Given the description of an element on the screen output the (x, y) to click on. 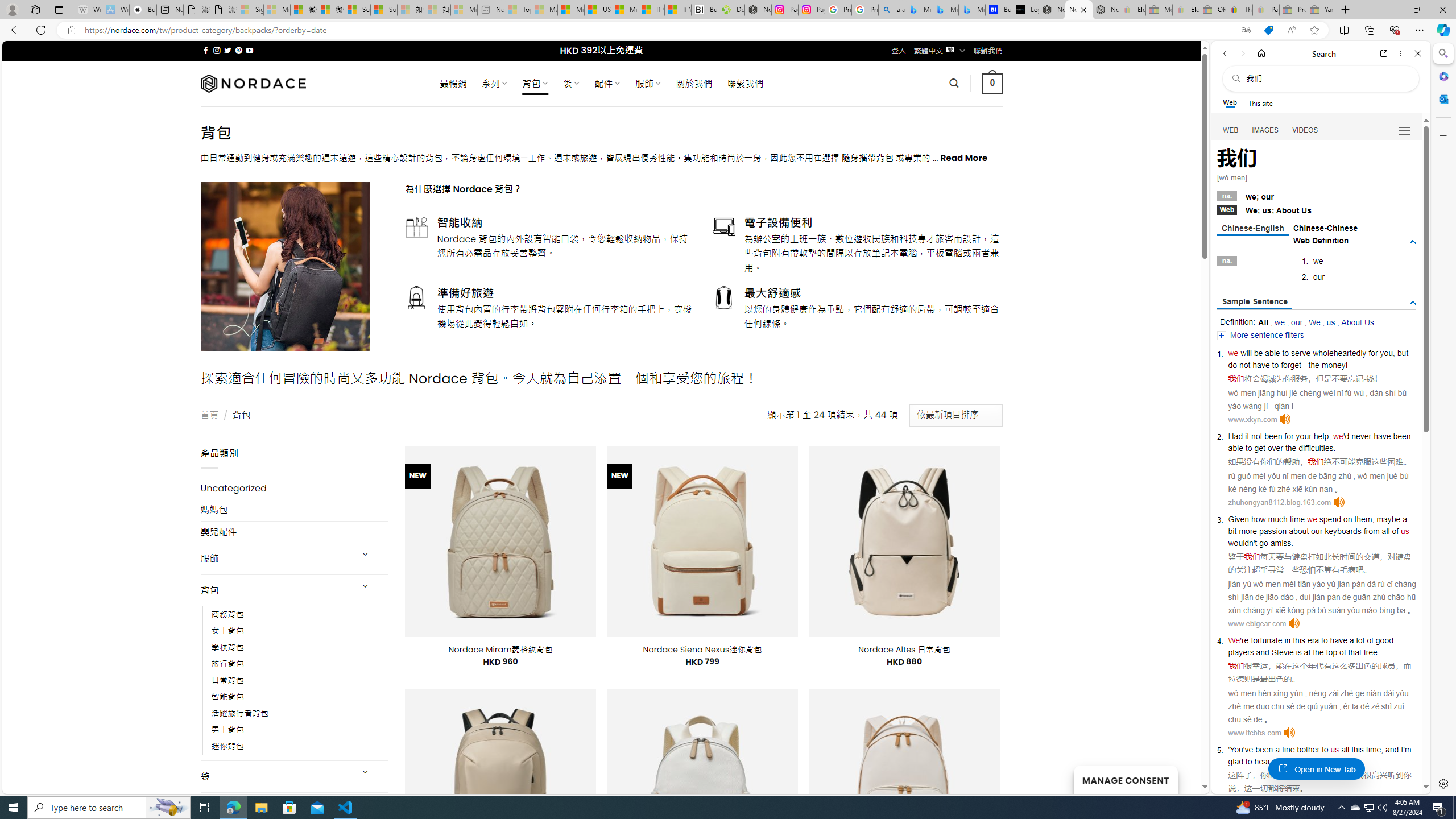
spend (1329, 519)
I (1401, 749)
help (1321, 435)
We (1233, 640)
is (1298, 651)
